Given the description of an element on the screen output the (x, y) to click on. 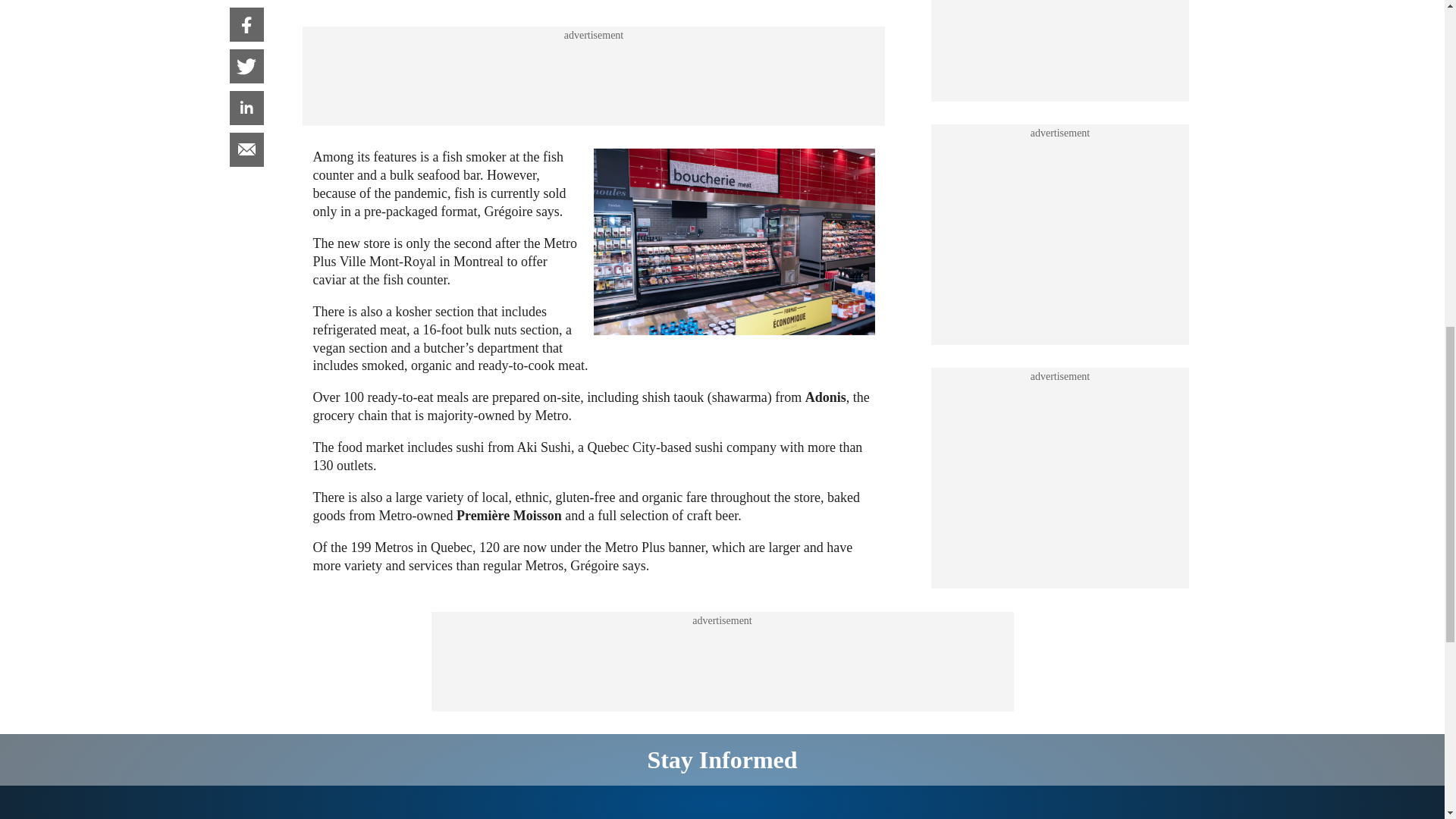
3rd party ad content (593, 76)
3rd party ad content (1059, 182)
3rd party ad content (1059, 17)
3rd party ad content (721, 662)
